Given the description of an element on the screen output the (x, y) to click on. 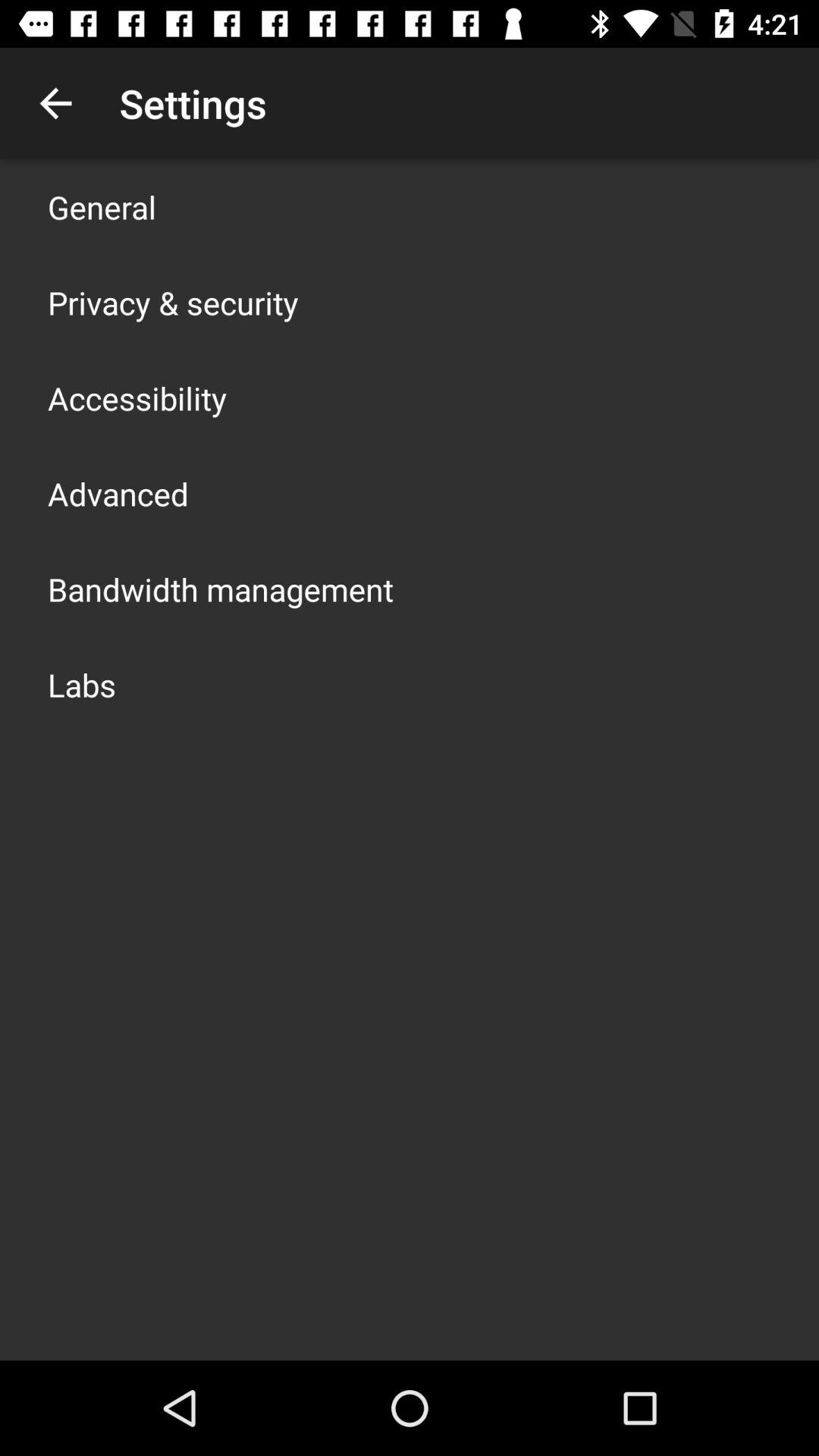
open the privacy & security icon (172, 302)
